Given the description of an element on the screen output the (x, y) to click on. 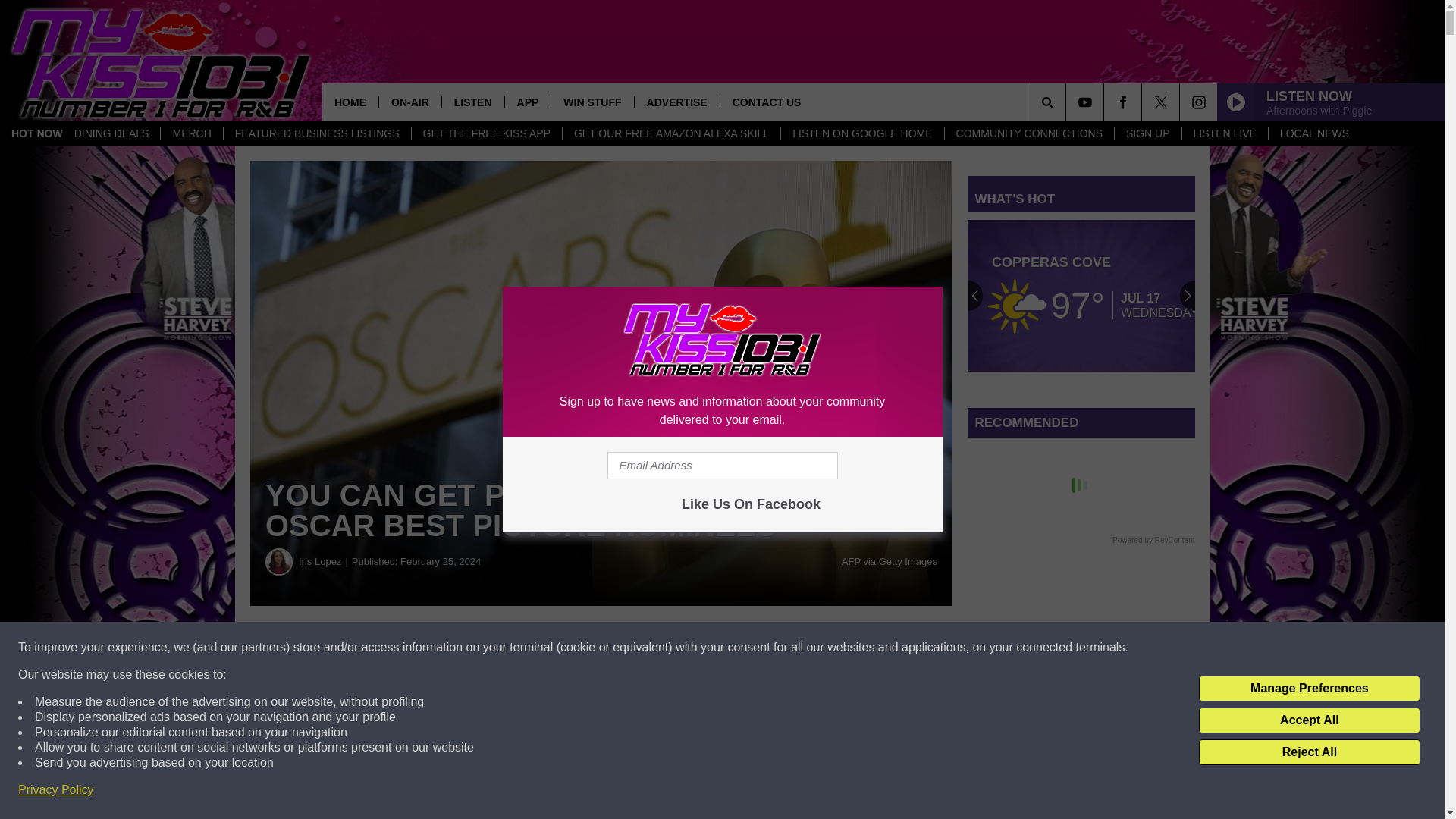
GET THE FREE KISS APP (486, 133)
SEARCH (1068, 102)
MERCH (191, 133)
ON-AIR (409, 102)
Share on Twitter (741, 647)
SEARCH (1068, 102)
Email Address (722, 465)
LISTEN ON GOOGLE HOME (861, 133)
LISTEN LIVE (1224, 133)
HOME (349, 102)
Privacy Policy (55, 789)
COMMUNITY CONNECTIONS (1028, 133)
Copperas Cove Weather (1081, 295)
LISTEN (472, 102)
LOCAL NEWS (1313, 133)
